Given the description of an element on the screen output the (x, y) to click on. 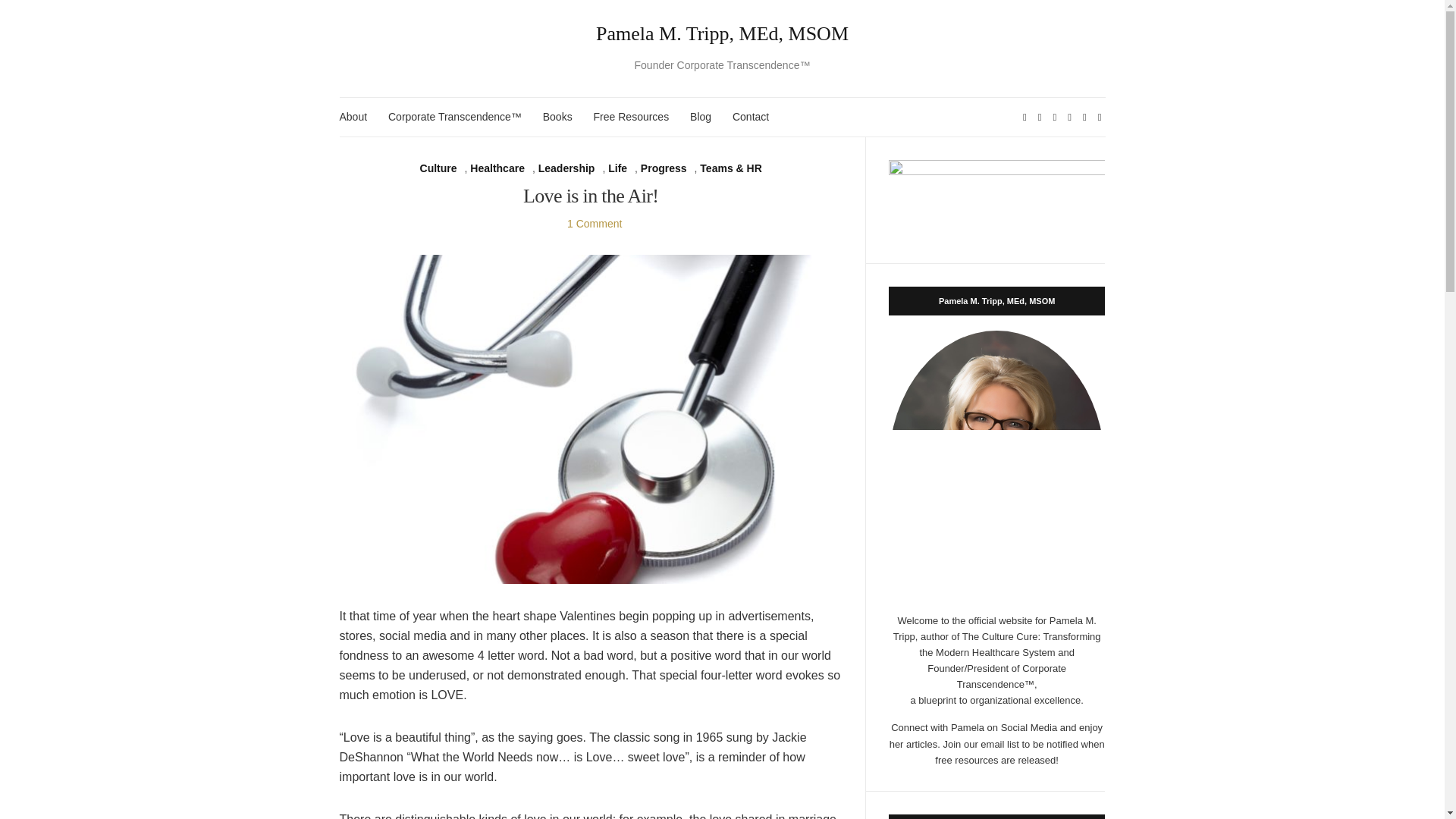
Healthcare (497, 168)
Leadership (566, 168)
Culture (438, 168)
Books (557, 117)
About (353, 117)
1 Comment (594, 223)
Pamela M. Tripp, MEd, MSOM (722, 33)
Blog (700, 117)
Life (617, 168)
Progress (663, 168)
